Given the description of an element on the screen output the (x, y) to click on. 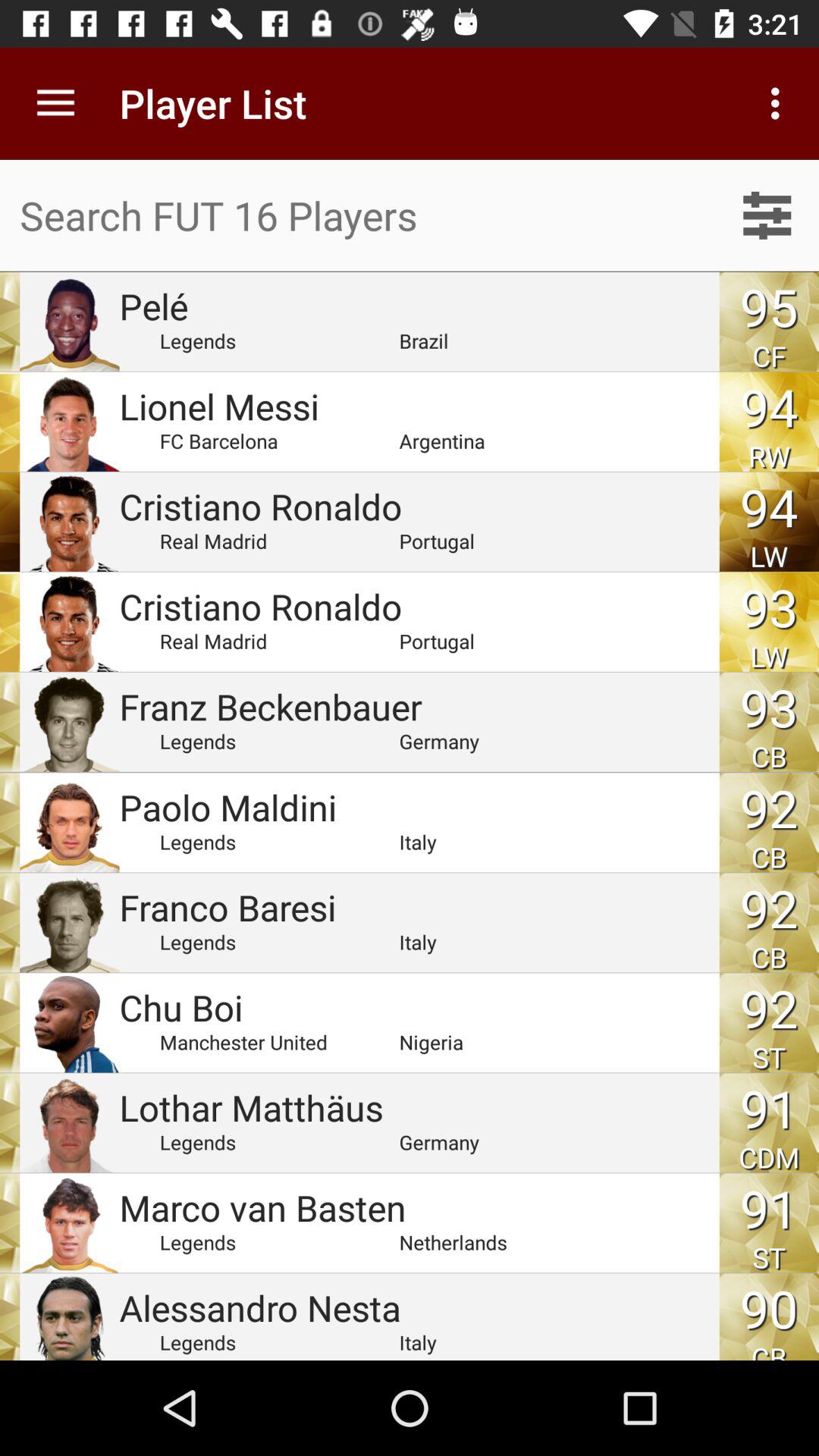
use in search given details (767, 215)
